Given the description of an element on the screen output the (x, y) to click on. 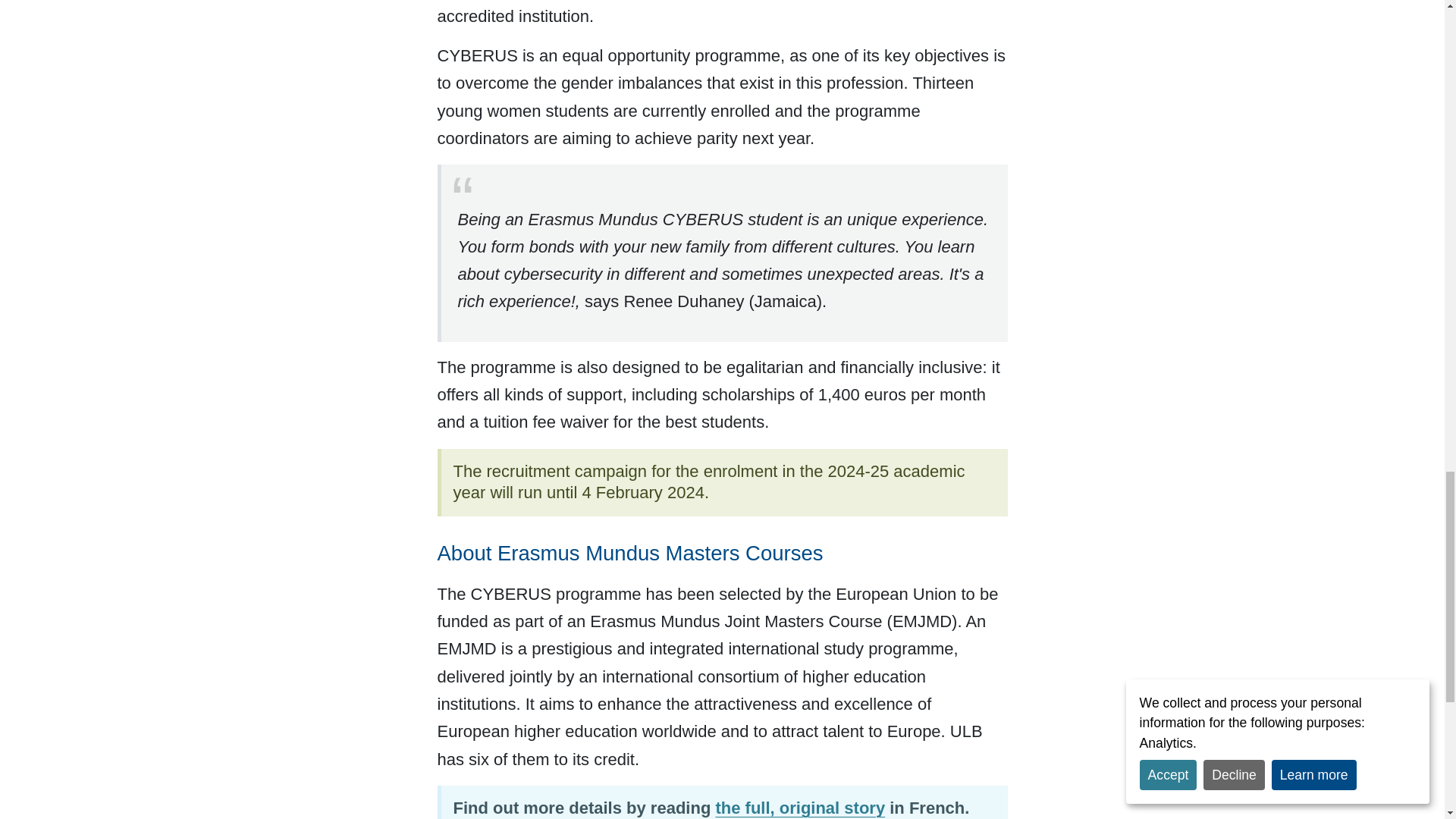
the full, original story (799, 807)
